Given the description of an element on the screen output the (x, y) to click on. 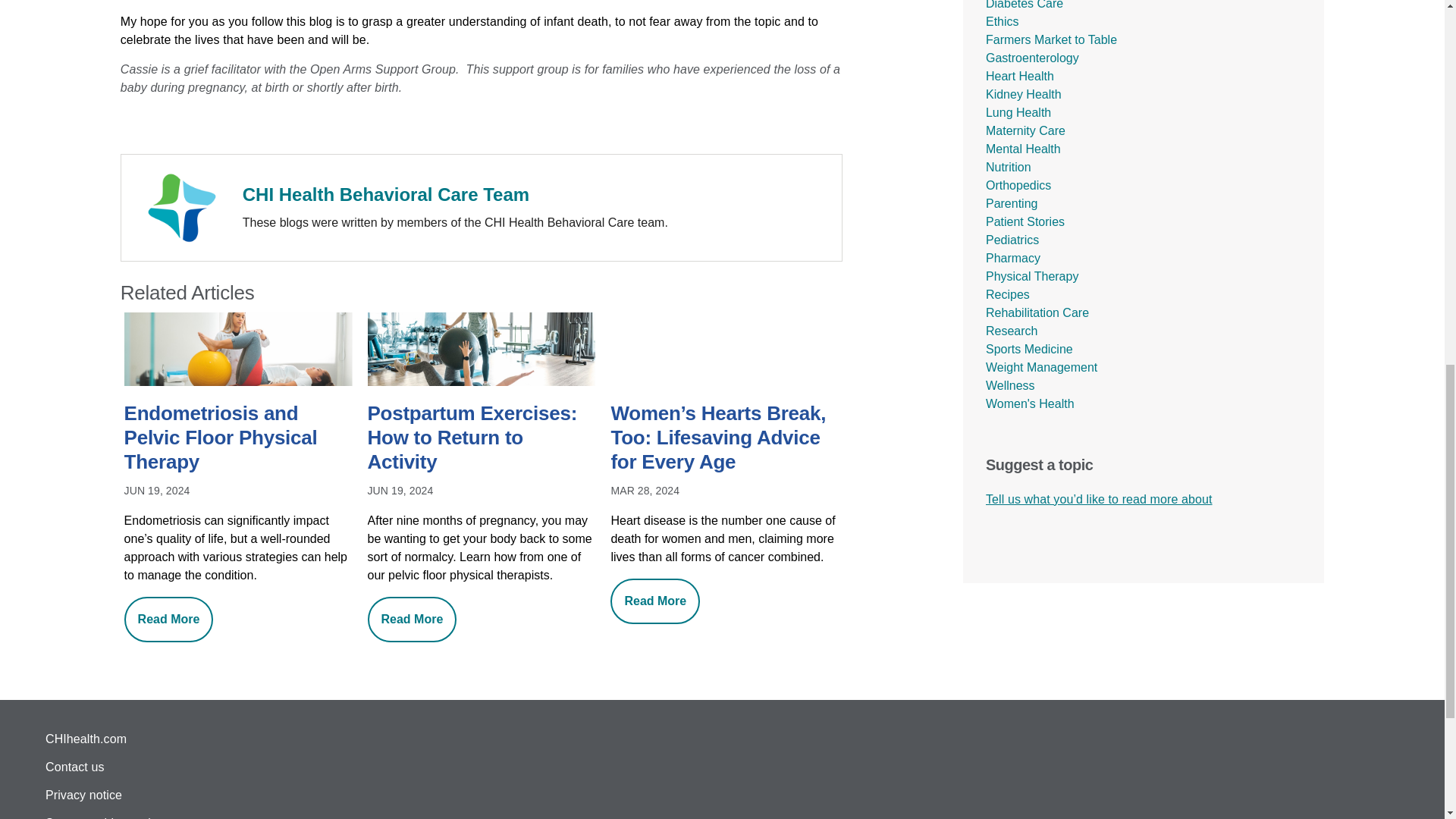
Read More (655, 601)
Lung Health (1018, 112)
Mental Health (1023, 148)
Ethics (1002, 21)
Read More (412, 619)
Farmers Market to Table (1050, 39)
CHI Health Behavioral Care Team (386, 193)
Heart Health (1019, 75)
Postpartum Exercises: How to Return to Activity (481, 439)
Read More (168, 619)
Nutrition (1007, 166)
Kidney Health (1023, 93)
Maternity Care (1025, 130)
Gastroenterology (1031, 57)
Endometriosis and Pelvic Floor Physical Therapy (237, 439)
